Given the description of an element on the screen output the (x, y) to click on. 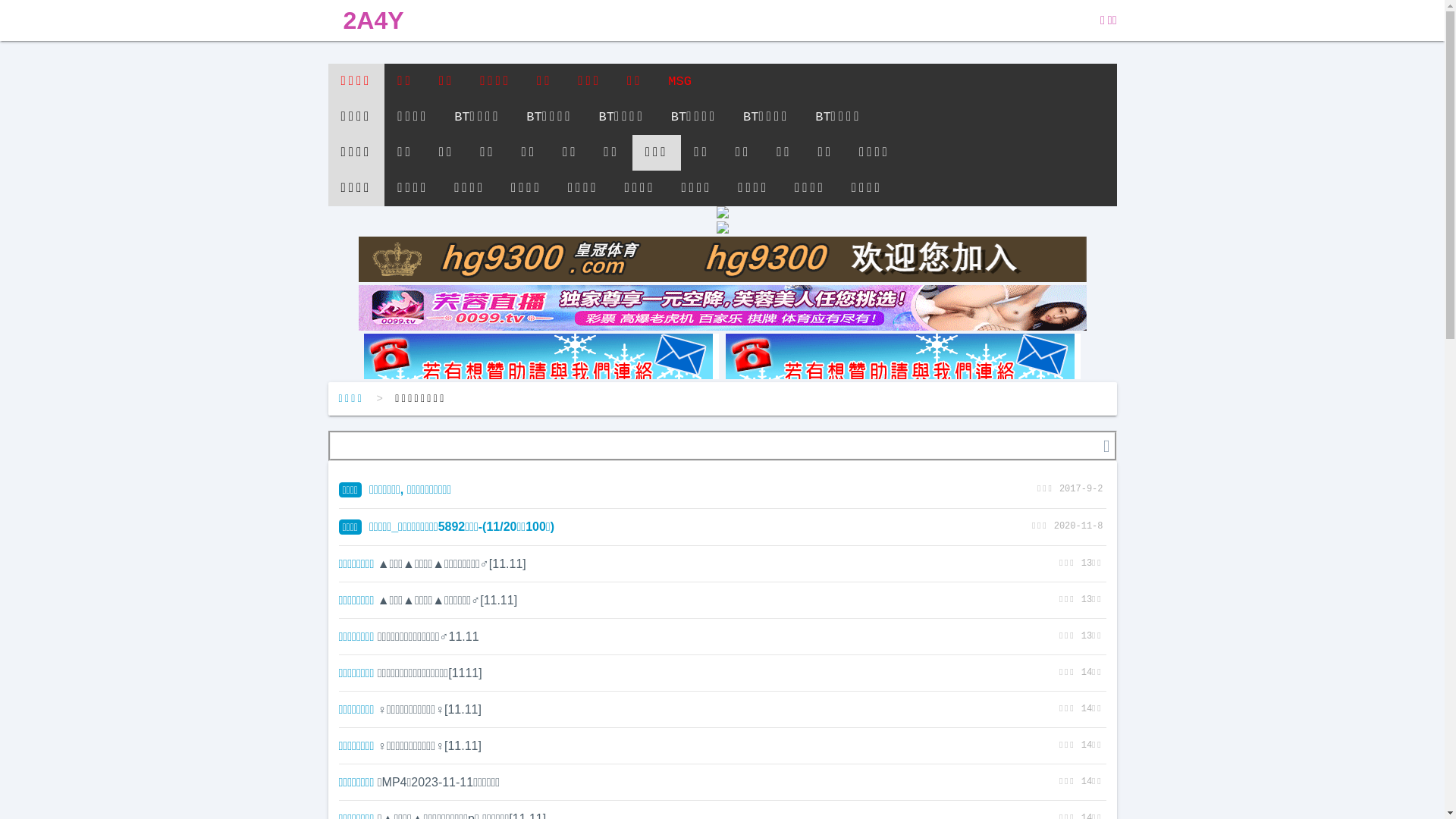
2A4Y Element type: text (372, 20)
MSG Element type: text (679, 81)
